Given the description of an element on the screen output the (x, y) to click on. 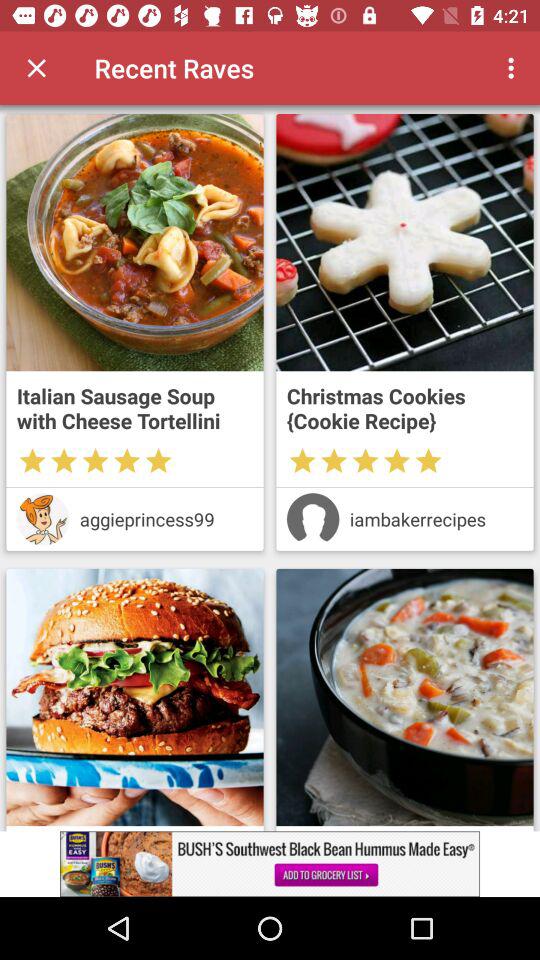
close (36, 68)
